Given the description of an element on the screen output the (x, y) to click on. 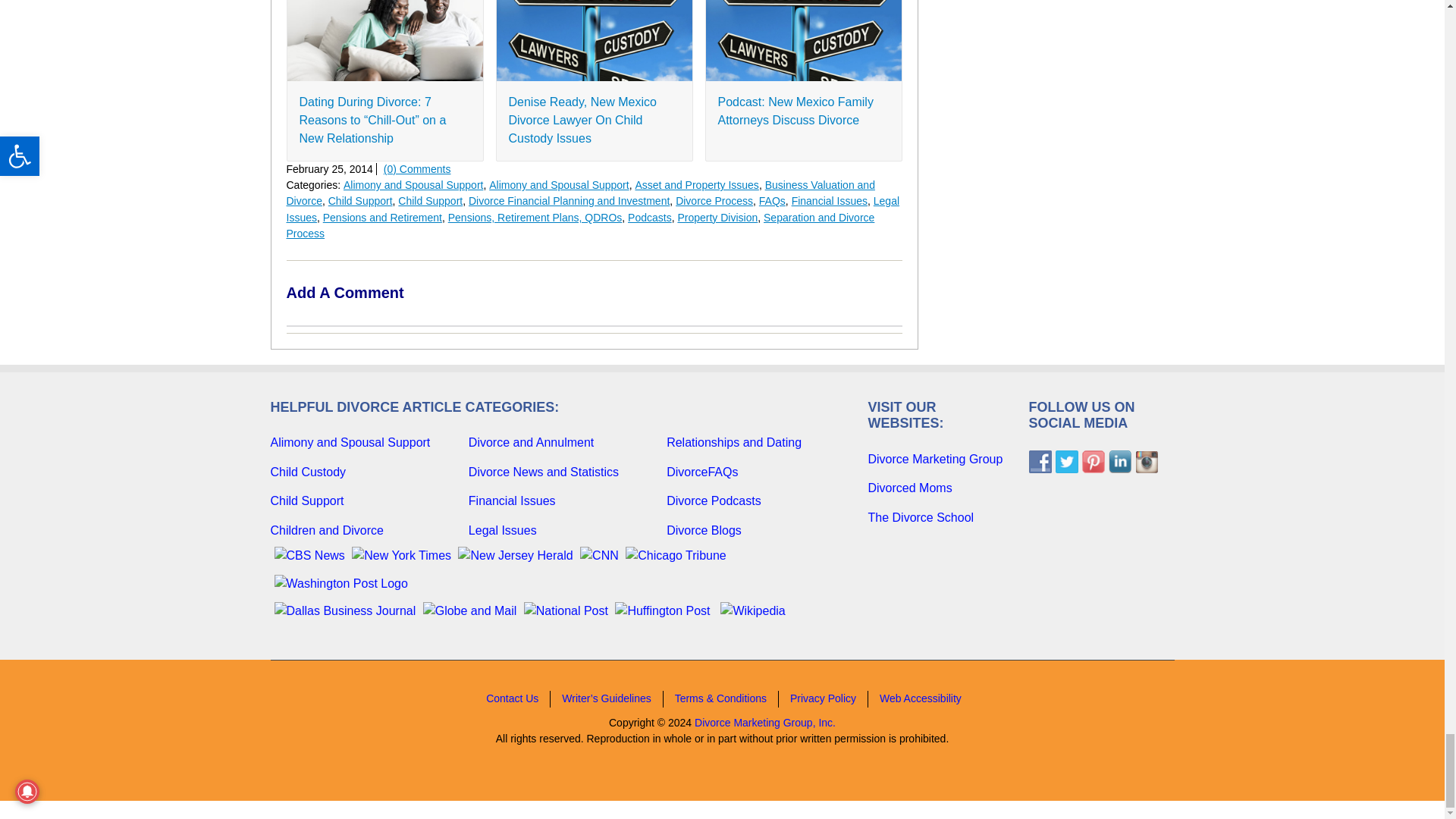
Twitter (1066, 461)
LinkedIn (1119, 461)
Instagram (1145, 461)
Pinterest (1092, 461)
Facebook (1039, 461)
